Given the description of an element on the screen output the (x, y) to click on. 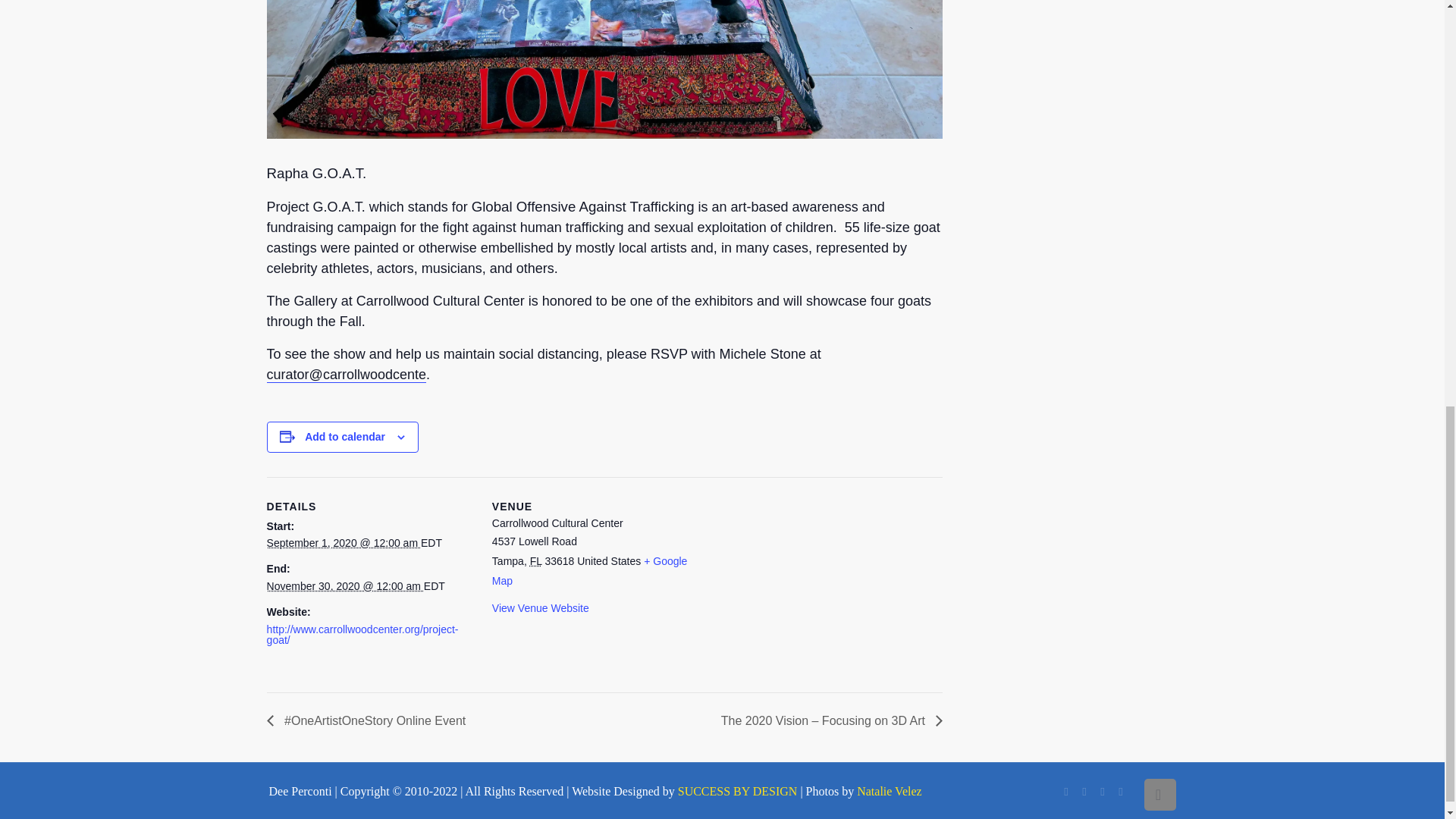
2020-11-30 (344, 585)
View Venue Website (540, 607)
SUCCESS BY DESIGN (737, 790)
Florida (535, 561)
SUCCESS BY DESIGN (737, 790)
2020-09-01 (343, 542)
Facebook (1066, 791)
RSS (1121, 791)
LinkedIn (1085, 791)
Add to calendar (344, 436)
